Given the description of an element on the screen output the (x, y) to click on. 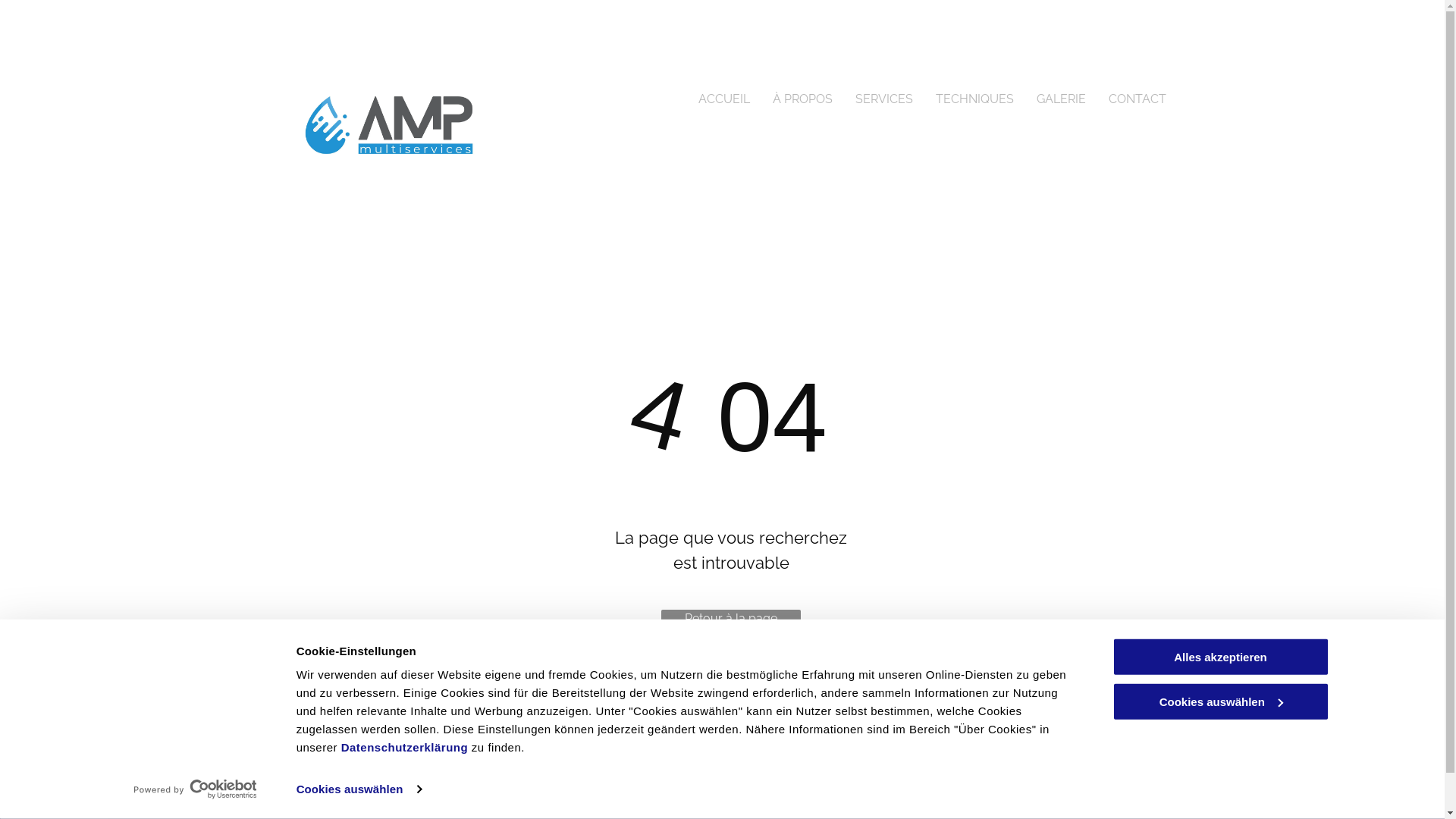
027 322 62 07 Element type: text (540, 719)
CONTACT Element type: text (1136, 99)
TECHNIQUES Element type: text (973, 99)
info@amp-multiservices.ch Element type: text (577, 757)
ACCUEIL Element type: text (724, 99)
078 615 60 95 Element type: text (633, 719)
SERVICES Element type: text (883, 99)
GALERIE Element type: text (1061, 99)
Alles akzeptieren Element type: text (1219, 656)
